Given the description of an element on the screen output the (x, y) to click on. 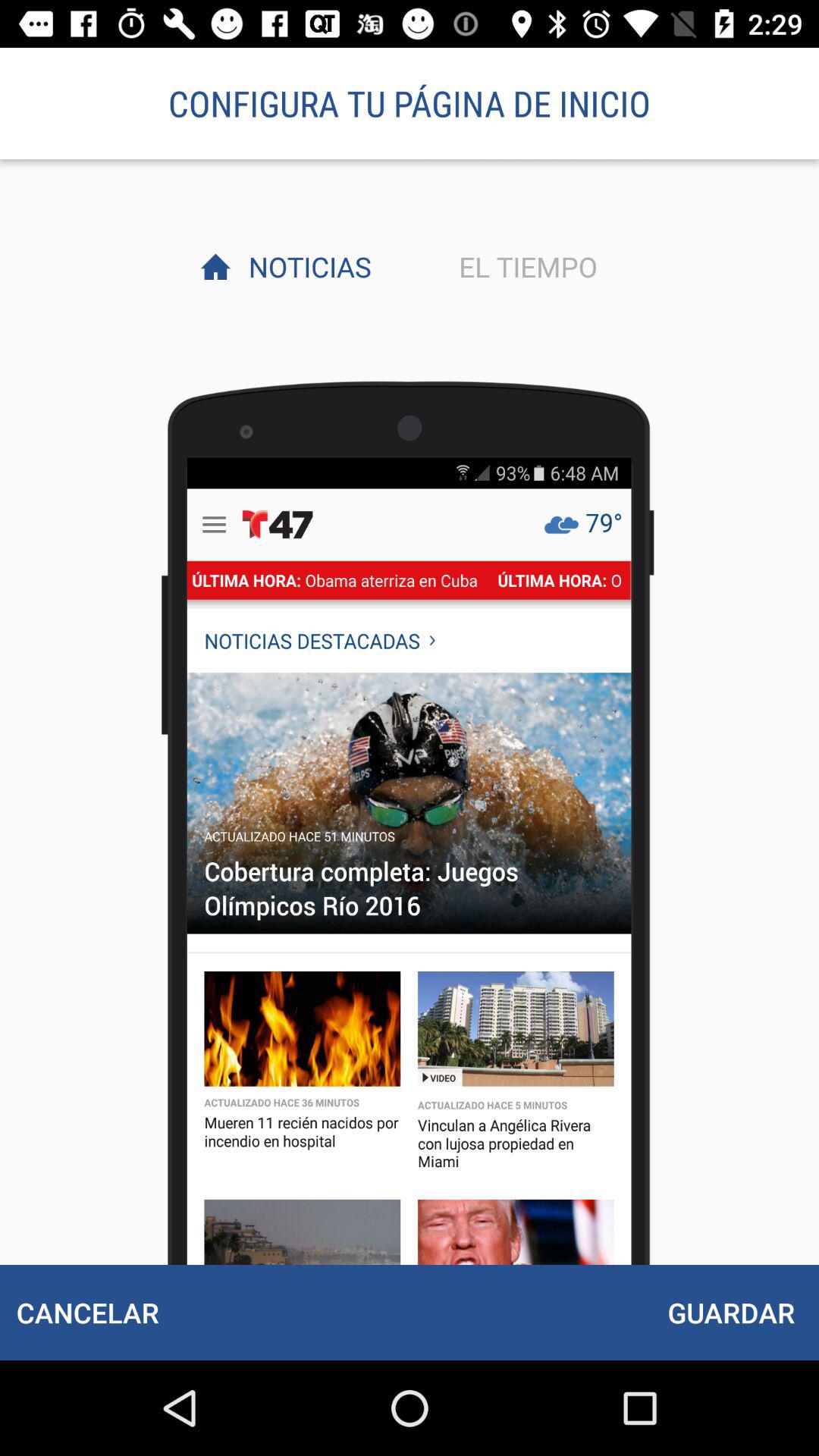
launch the icon to the left of the el tiempo icon (305, 266)
